Given the description of an element on the screen output the (x, y) to click on. 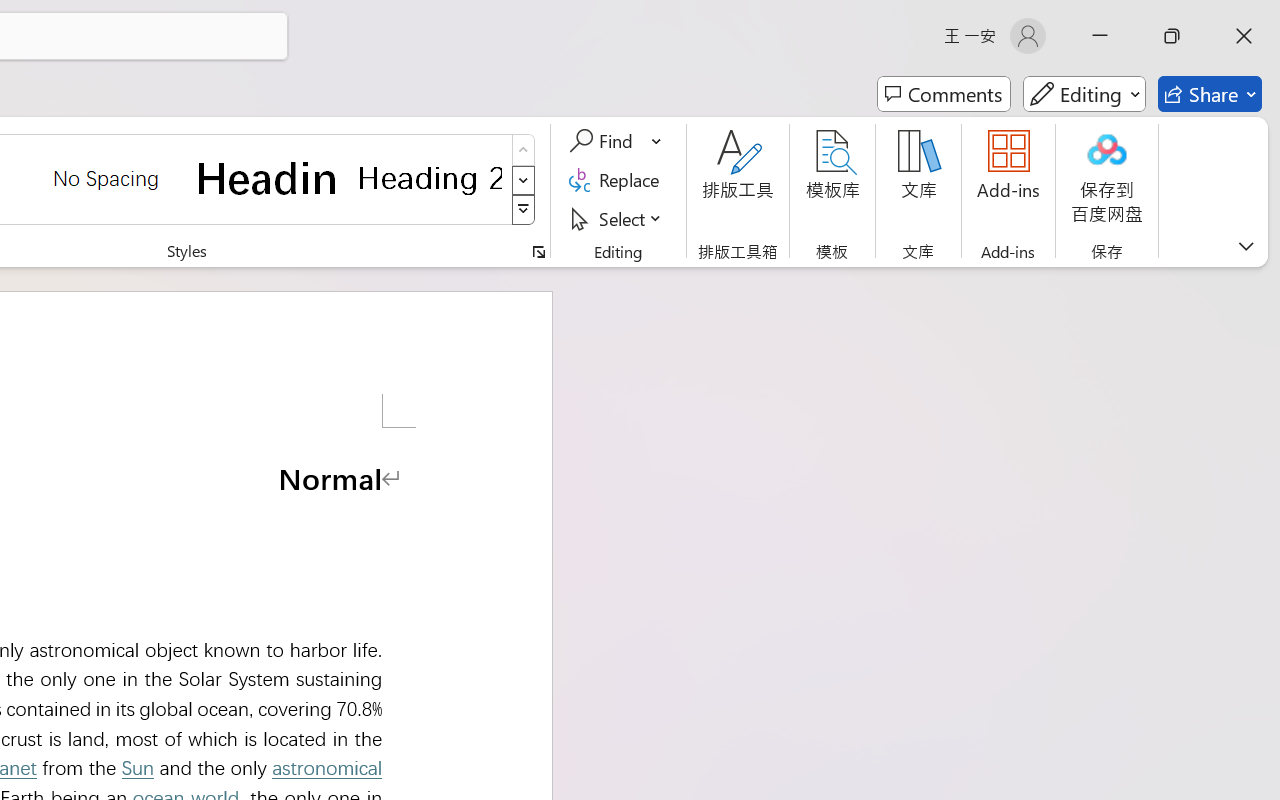
Replace... (617, 179)
Select (618, 218)
Sun (137, 768)
